Given the description of an element on the screen output the (x, y) to click on. 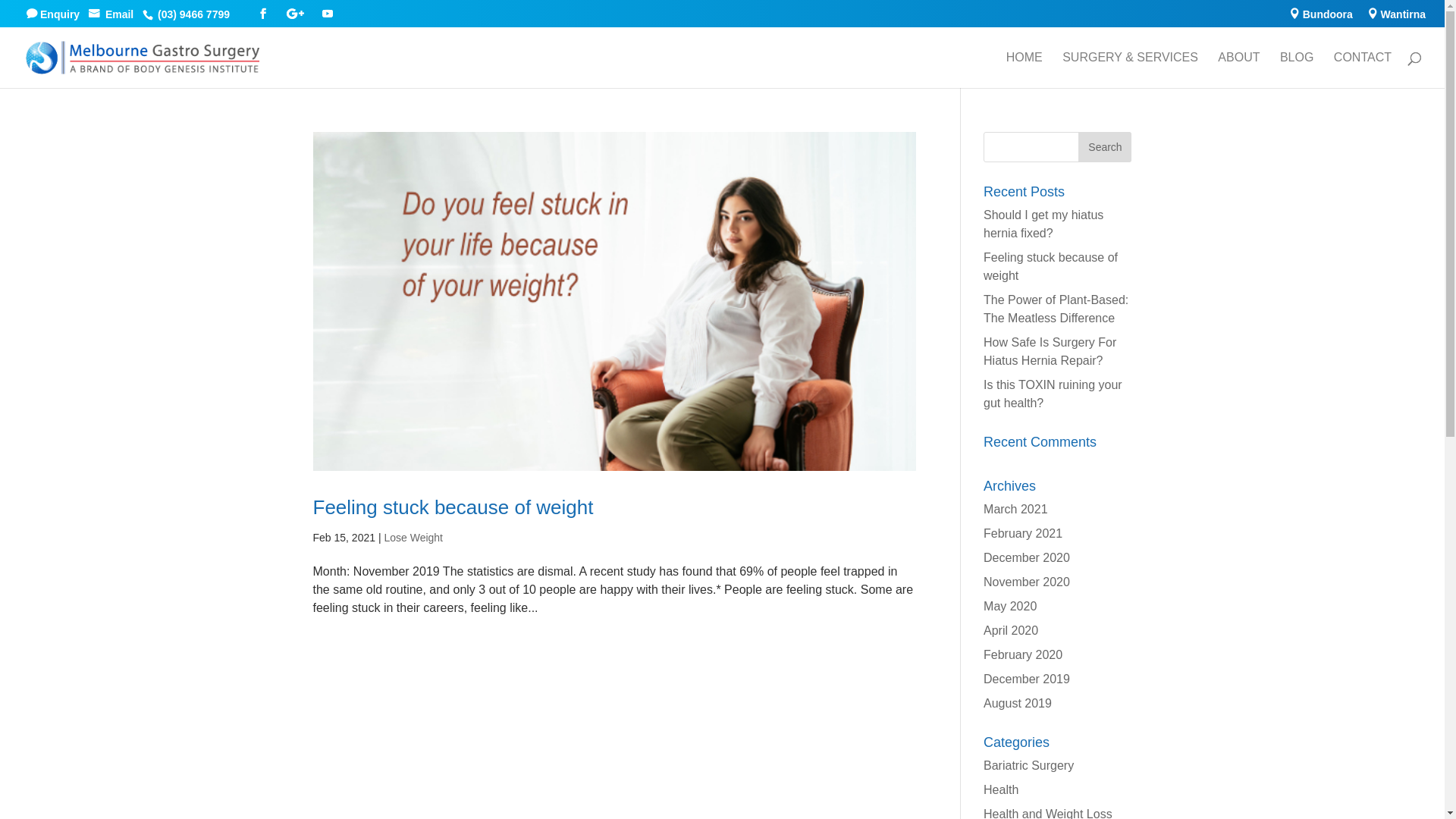
November 2020 Element type: text (1026, 581)
Feeling stuck because of weight Element type: text (452, 506)
August 2019 Element type: text (1017, 702)
Bundoora Element type: text (1320, 17)
December 2020 Element type: text (1026, 557)
April 2020 Element type: text (1010, 630)
Should I get my hiatus hernia fixed? Element type: text (1043, 223)
(03) 9466 7799 Element type: text (196, 13)
The Power of Plant-Based: The Meatless Difference Element type: text (1055, 308)
Feeling stuck because of weight Element type: text (1050, 266)
HOME Element type: text (1024, 69)
BLOG Element type: text (1296, 69)
SURGERY & SERVICES Element type: text (1130, 69)
ABOUT Element type: text (1238, 69)
May 2020 Element type: text (1009, 605)
December 2019 Element type: text (1026, 678)
February 2020 Element type: text (1022, 654)
Bariatric Surgery Element type: text (1028, 765)
Is this TOXIN ruining your gut health? Element type: text (1052, 393)
March 2021 Element type: text (1015, 508)
Email Element type: text (113, 13)
Wantirna Element type: text (1396, 17)
Lose Weight Element type: text (412, 537)
Enquiry Element type: text (57, 13)
CONTACT Element type: text (1362, 69)
Health Element type: text (1000, 789)
February 2021 Element type: text (1022, 533)
Search Element type: text (1104, 146)
How Safe Is Surgery For Hiatus Hernia Repair? Element type: text (1049, 351)
